Given the description of an element on the screen output the (x, y) to click on. 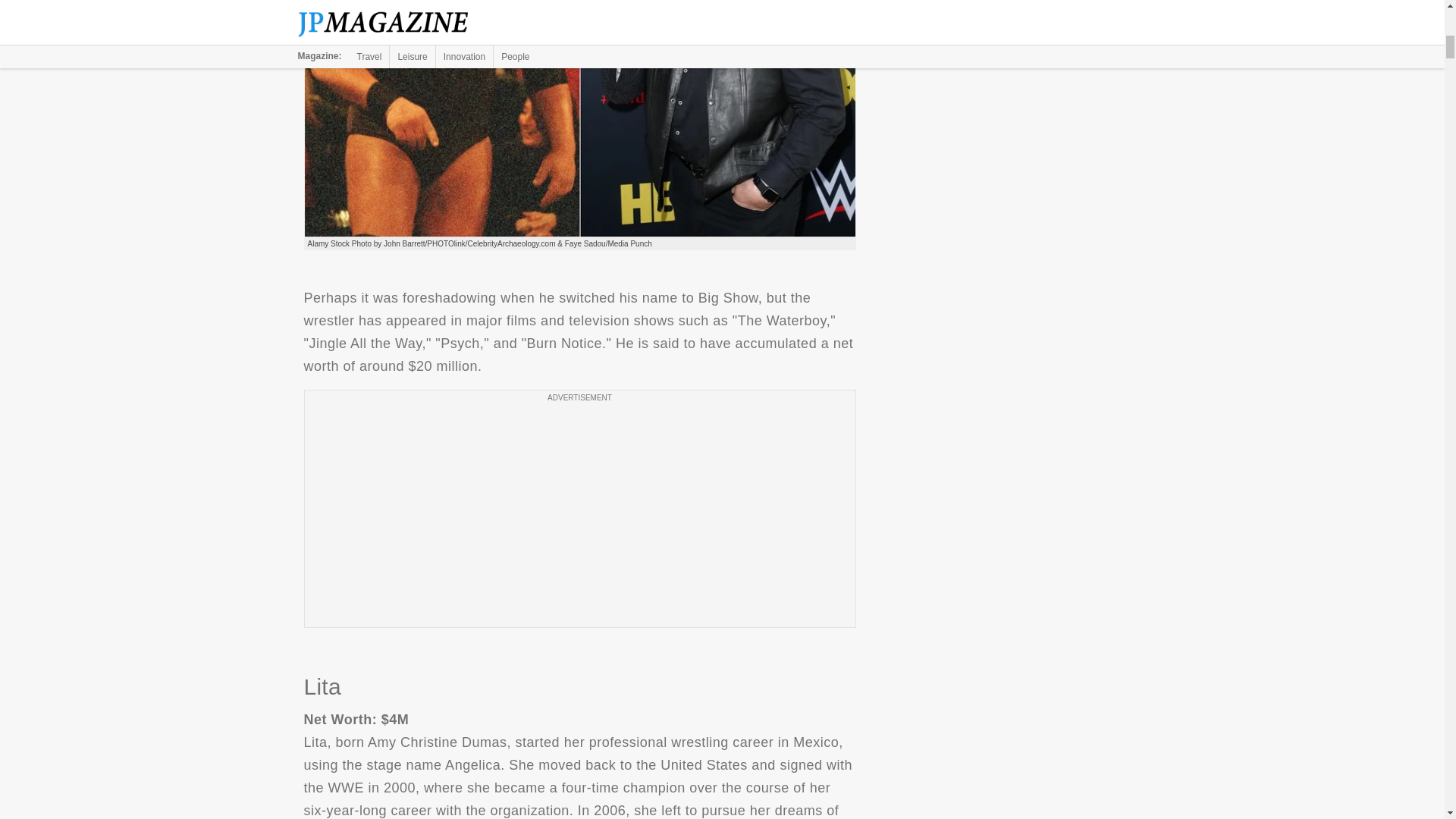
Big Show (579, 118)
